Given the description of an element on the screen output the (x, y) to click on. 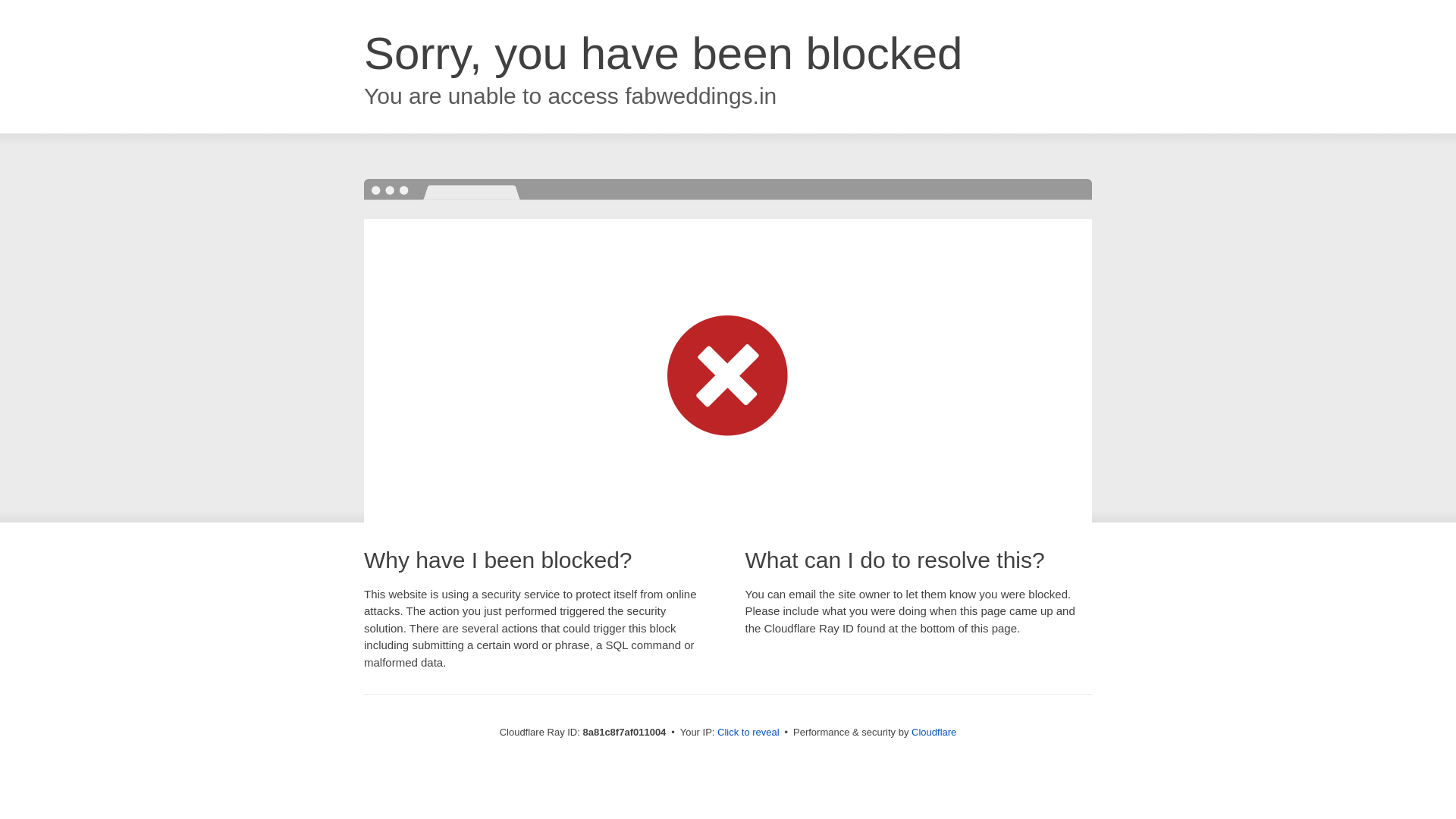
Cloudflare (933, 731)
Click to reveal (747, 732)
